Given the description of an element on the screen output the (x, y) to click on. 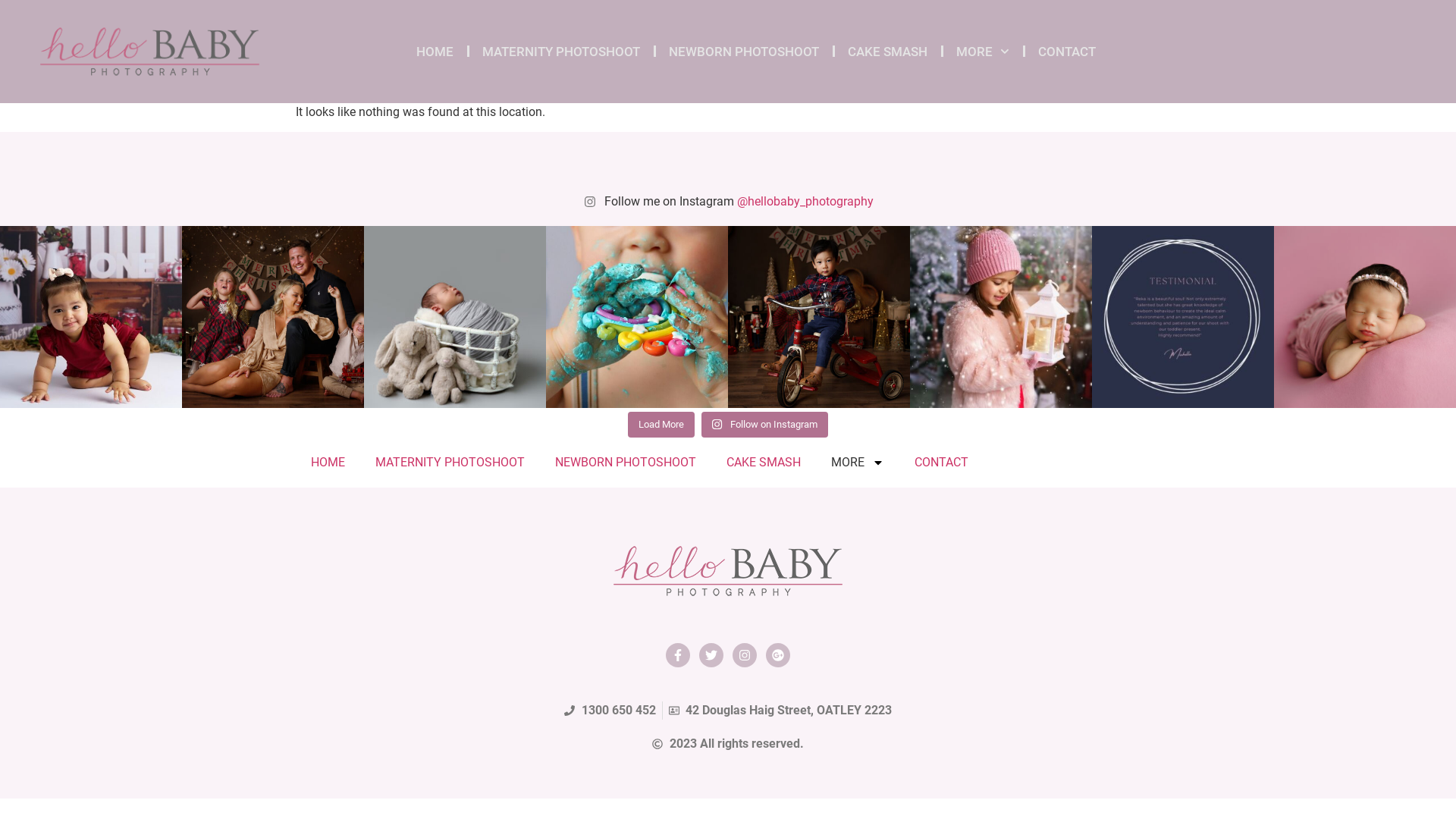
Follow on Instagram Element type: text (764, 424)
CONTACT Element type: text (941, 462)
NEWBORN PHOTOSHOOT Element type: text (625, 462)
MORE Element type: text (857, 462)
CONTACT Element type: text (1066, 51)
MATERNITY PHOTOSHOOT Element type: text (449, 462)
HOME Element type: text (434, 51)
@hellobaby_photography Element type: text (805, 201)
Load More Element type: text (660, 424)
CAKE SMASH Element type: text (763, 462)
NEWBORN PHOTOSHOOT Element type: text (743, 51)
HOME Element type: text (327, 462)
CAKE SMASH Element type: text (887, 51)
MATERNITY PHOTOSHOOT Element type: text (560, 51)
MORE Element type: text (982, 51)
